Given the description of an element on the screen output the (x, y) to click on. 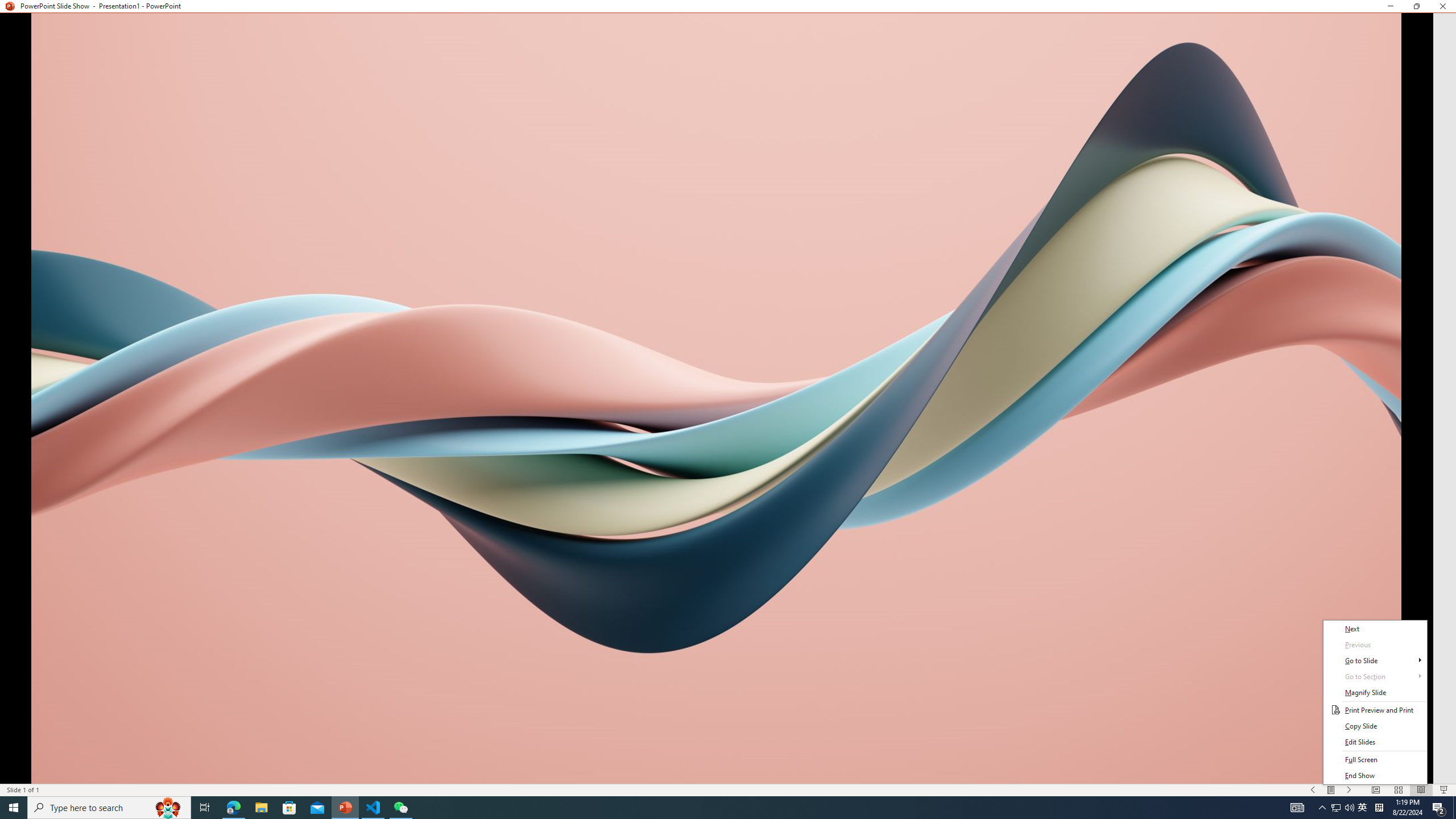
Magnify Slide (1374, 692)
Edit Slides (1374, 742)
